Given the description of an element on the screen output the (x, y) to click on. 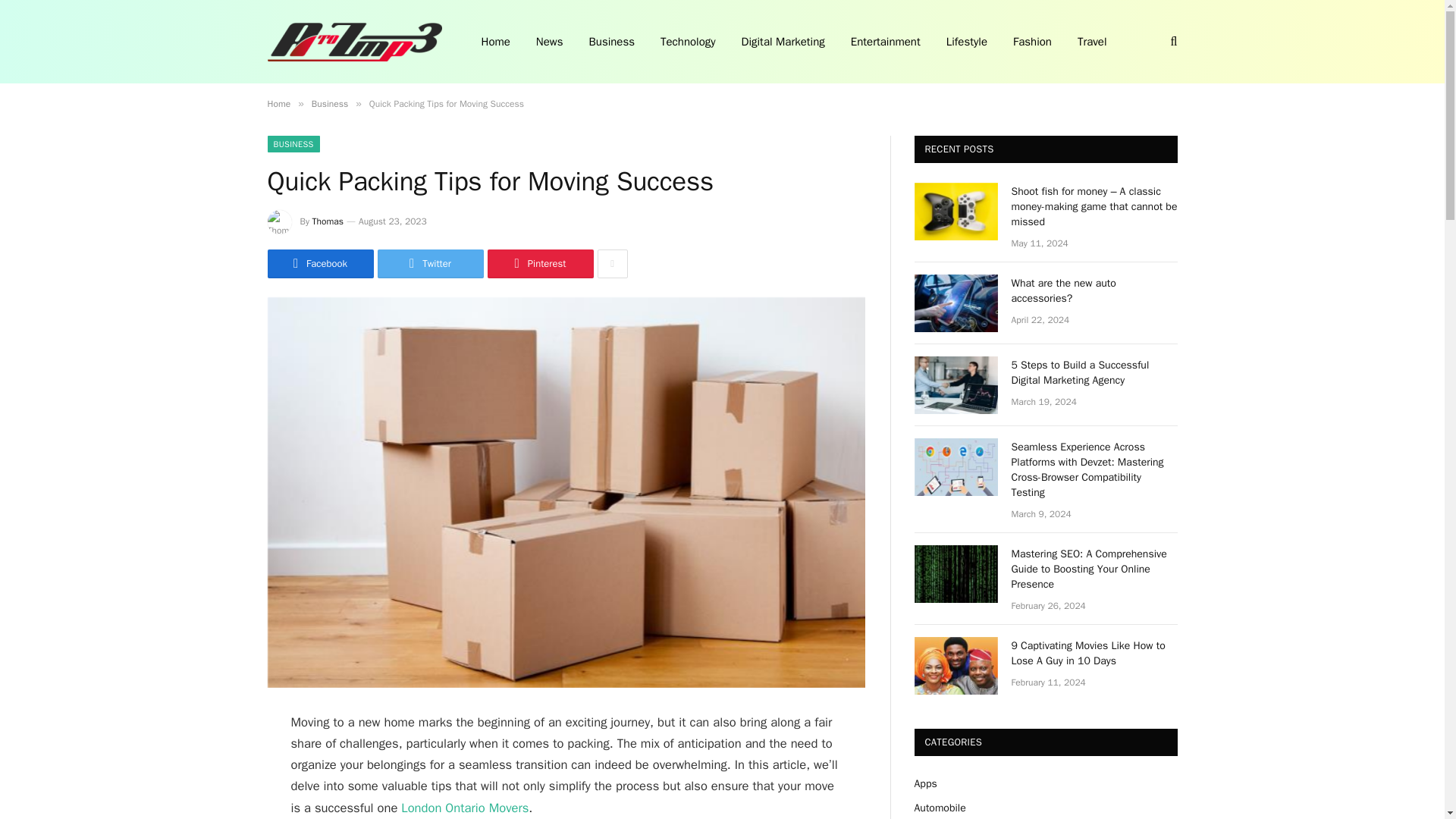
Atozmp3 (353, 41)
Posts by Thomas (328, 221)
Twitter (430, 263)
Pinterest (539, 263)
Facebook (319, 263)
Share on Facebook (319, 263)
Thomas (328, 221)
Show More Social Sharing (611, 263)
London Ontario Movers (464, 807)
Home (277, 103)
